Given the description of an element on the screen output the (x, y) to click on. 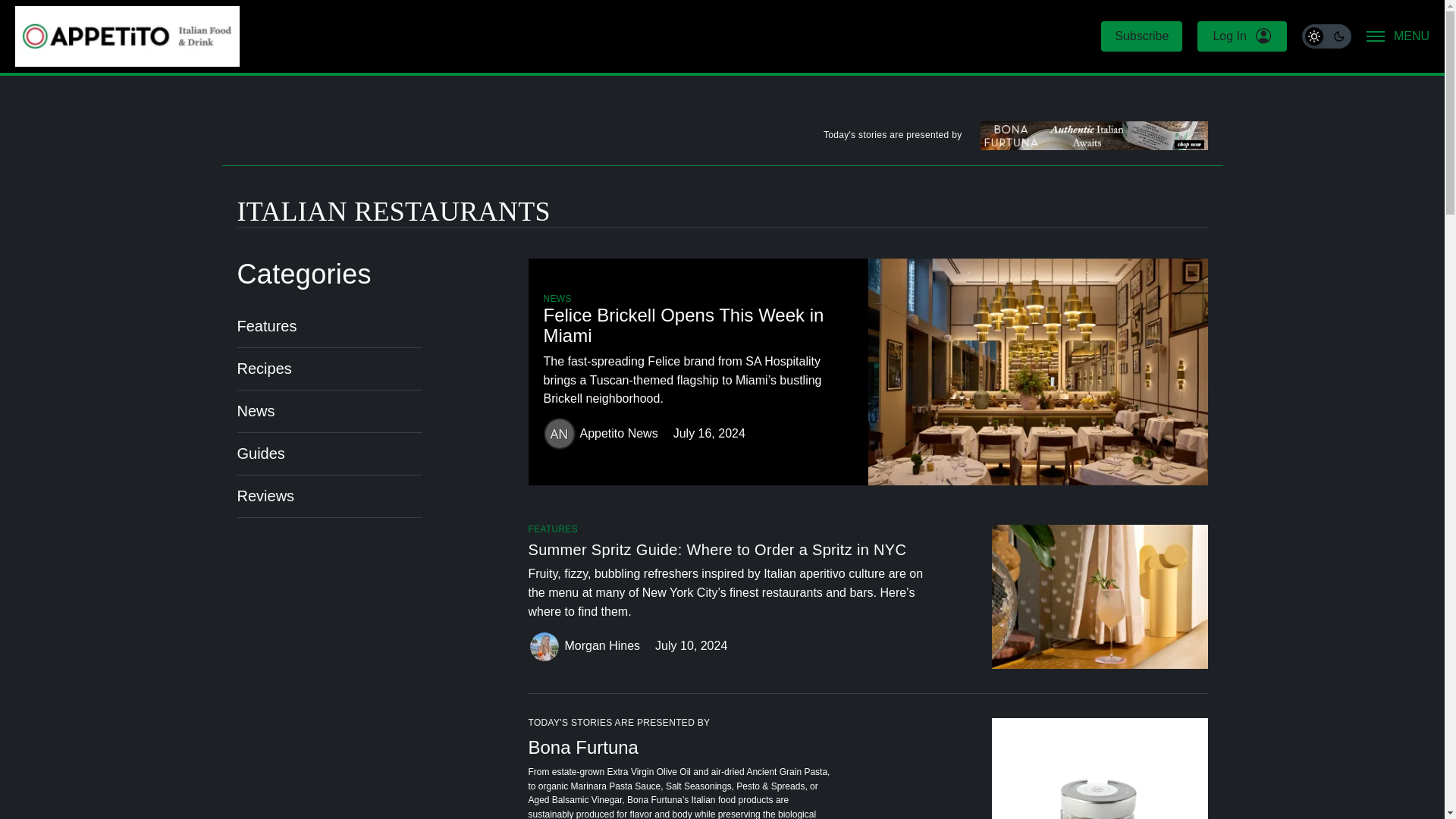
Subscribe (1141, 36)
Appetito News (618, 434)
Felice Brickell Opens This Week in Miami (697, 328)
Today's stories are presented by (721, 138)
Log In (1240, 36)
News (255, 410)
FEATURES (552, 529)
NEWS (556, 298)
Reviews (264, 495)
Features (266, 325)
Guides (259, 453)
Summer Spritz Guide: Where to Order a Spritz in NYC (746, 552)
Recipes (263, 368)
MENU (1398, 36)
